Given the description of an element on the screen output the (x, y) to click on. 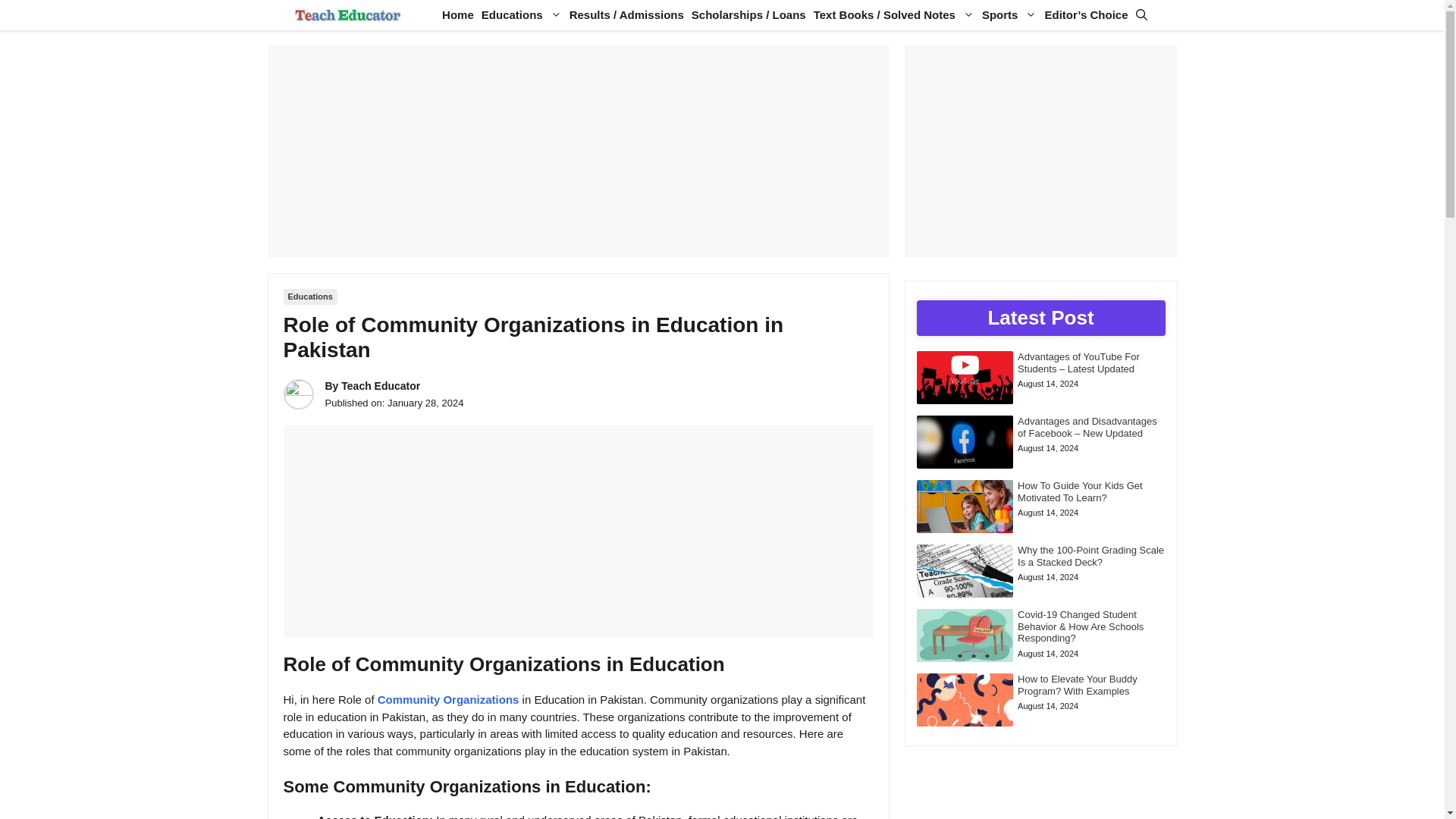
Advertisement (1040, 151)
Community Organizations (448, 698)
Teach Educator (347, 15)
Advertisement (577, 151)
Advertisement (578, 531)
Teach Educator (380, 386)
Educations (521, 15)
Educations (310, 296)
Home (457, 15)
Sports (1009, 15)
